Given the description of an element on the screen output the (x, y) to click on. 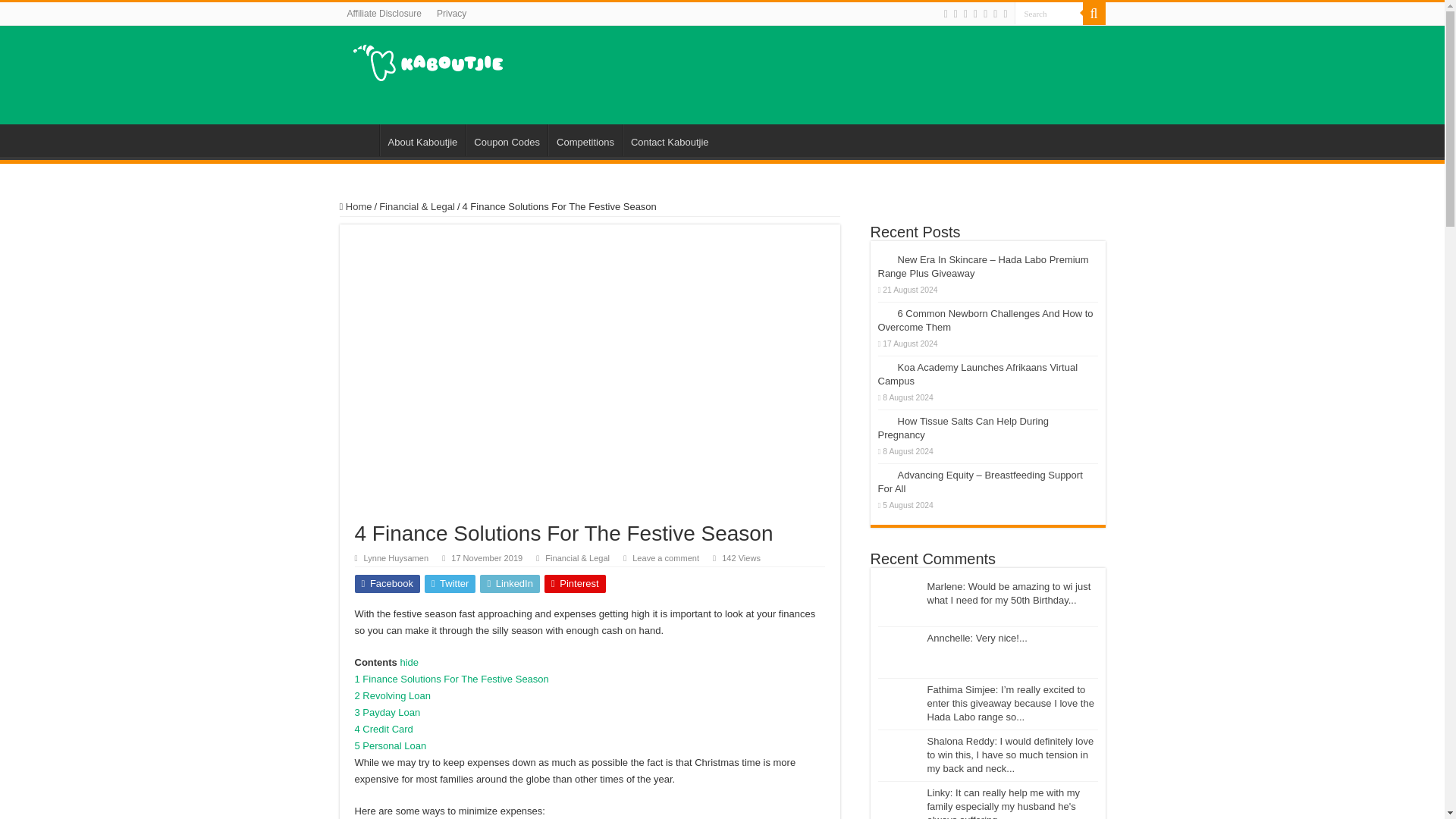
Lynne Huysamen (396, 557)
Competitions (584, 140)
Privacy (451, 13)
3 Payday Loan (387, 712)
Leave a comment (664, 557)
Search (1094, 13)
Search (1048, 13)
Facebook (387, 583)
Home (358, 140)
Search (1048, 13)
